Given the description of an element on the screen output the (x, y) to click on. 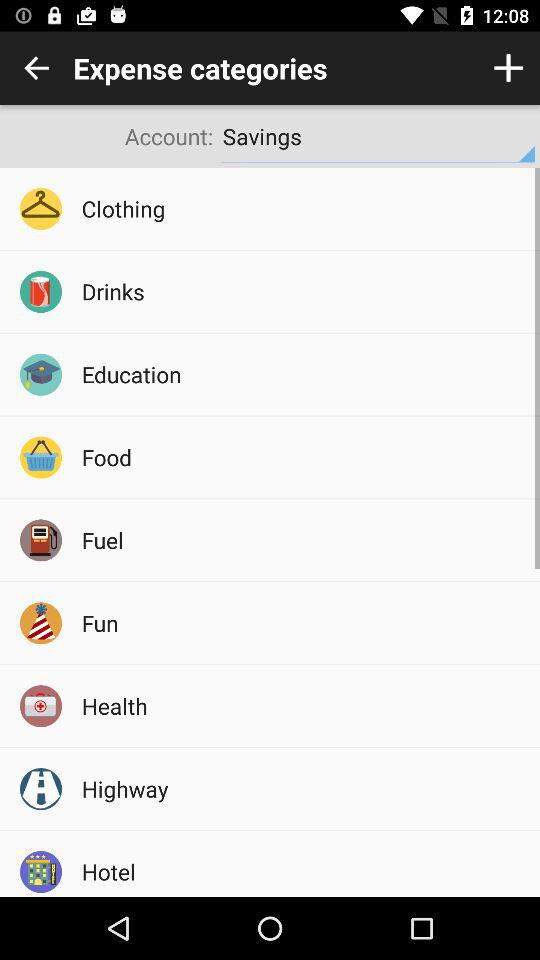
go to previous (36, 68)
